Given the description of an element on the screen output the (x, y) to click on. 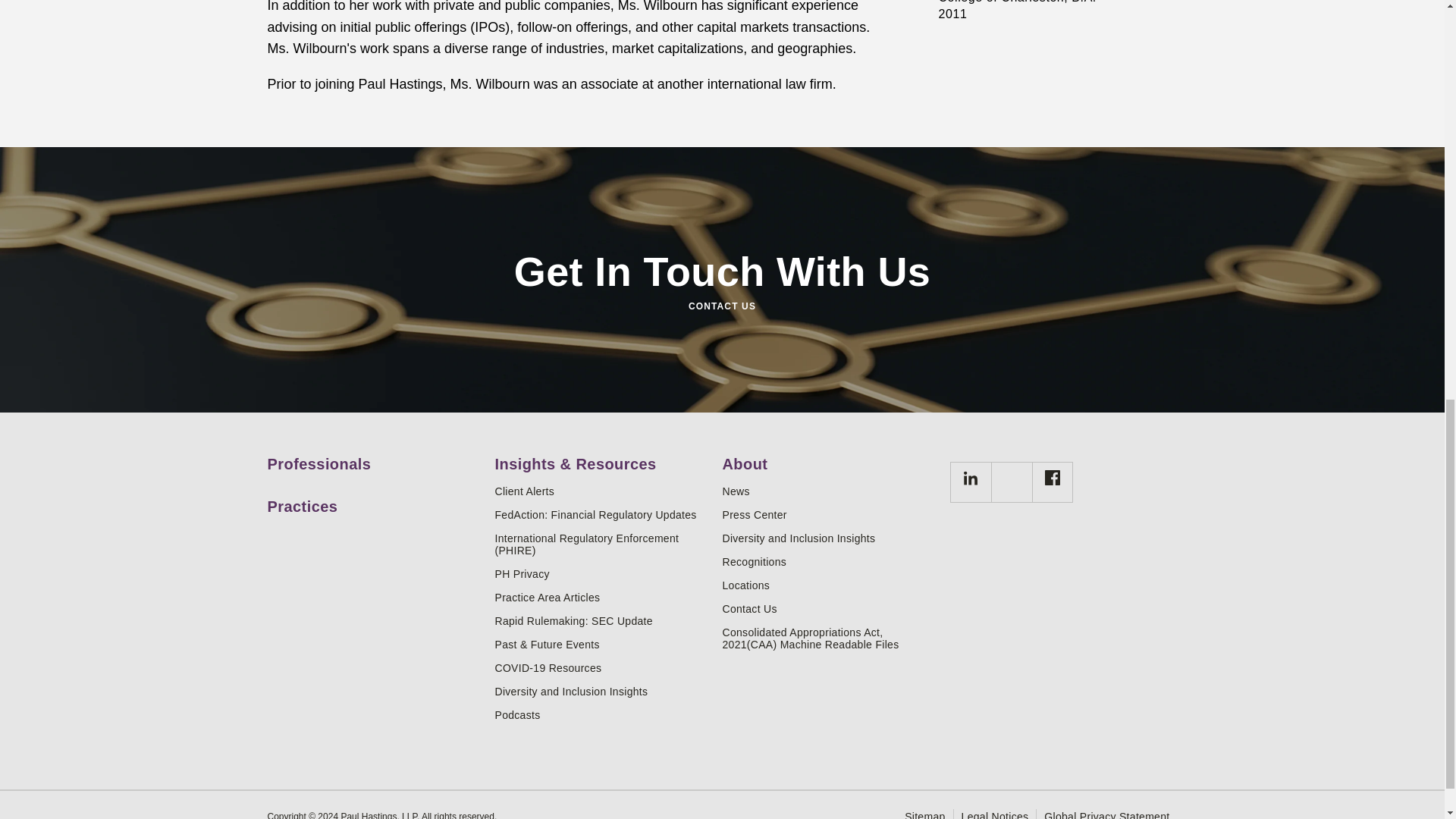
Press Center (829, 514)
Podcasts (602, 715)
News (829, 491)
COVID-19 Resources (602, 667)
CB6A0679-7CD4-47AB-9AF9-079521319001Created with sketchtool. (969, 477)
Practices (374, 500)
Client Alerts (602, 491)
Recognitions (829, 562)
Locations (829, 585)
About (829, 458)
PH Privacy (602, 573)
FedAction: Financial Regulatory Updates (602, 514)
Diversity and Inclusion Insights (602, 691)
BC42128A-F0DE-4FE2-9372-6CDE6D4F5957Created with sketchtool. (1052, 477)
Practice Area Articles (602, 597)
